Given the description of an element on the screen output the (x, y) to click on. 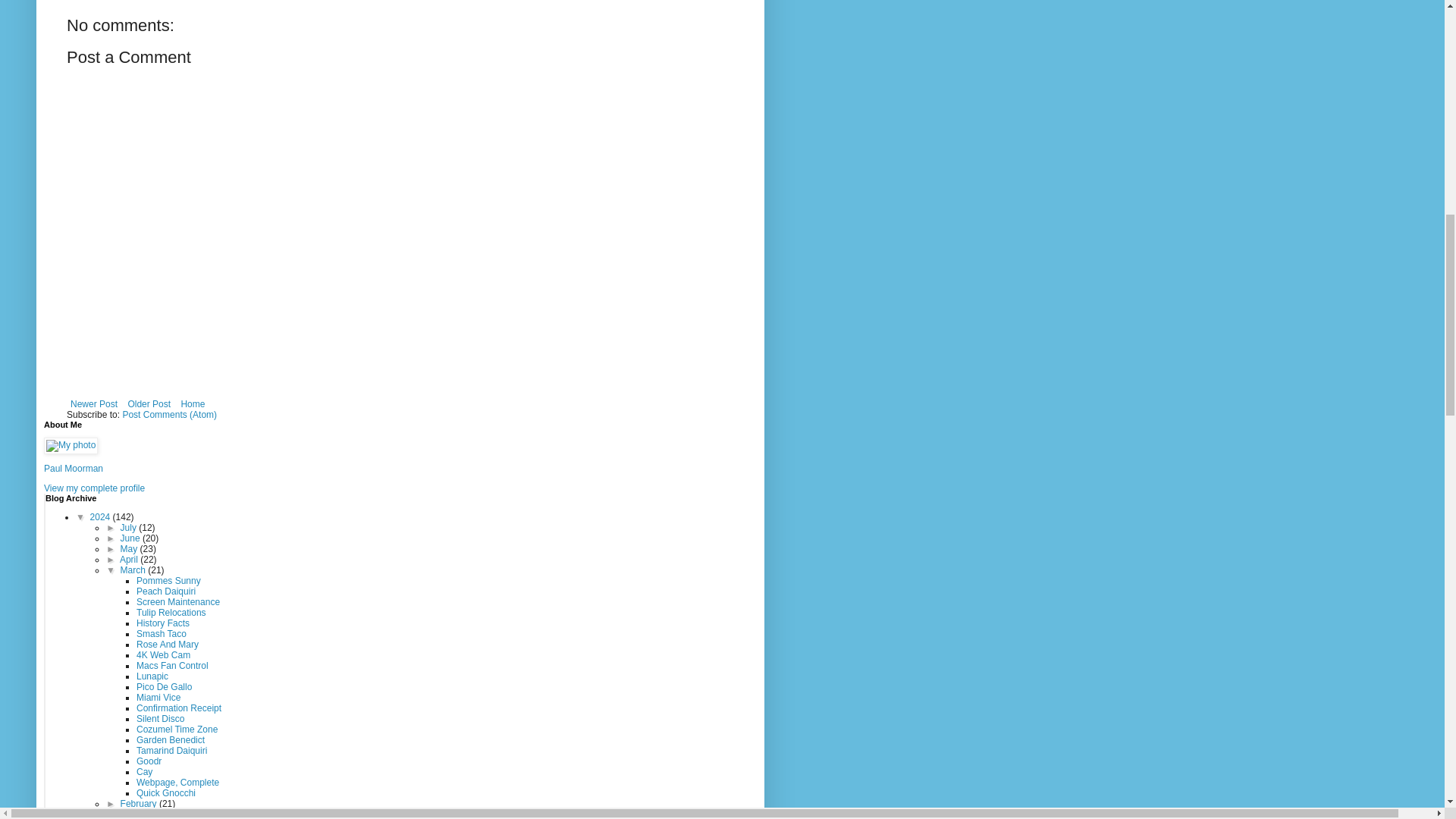
July (129, 527)
Screen Maintenance (177, 602)
Older Post (148, 403)
2024 (101, 516)
Smash Taco (161, 633)
Tulip Relocations (171, 612)
Pommes Sunny (168, 580)
Newer Post (93, 403)
May (129, 548)
View my complete profile (93, 488)
Older Post (148, 403)
March (134, 570)
April (129, 559)
June (131, 538)
Paul Moorman (73, 468)
